Given the description of an element on the screen output the (x, y) to click on. 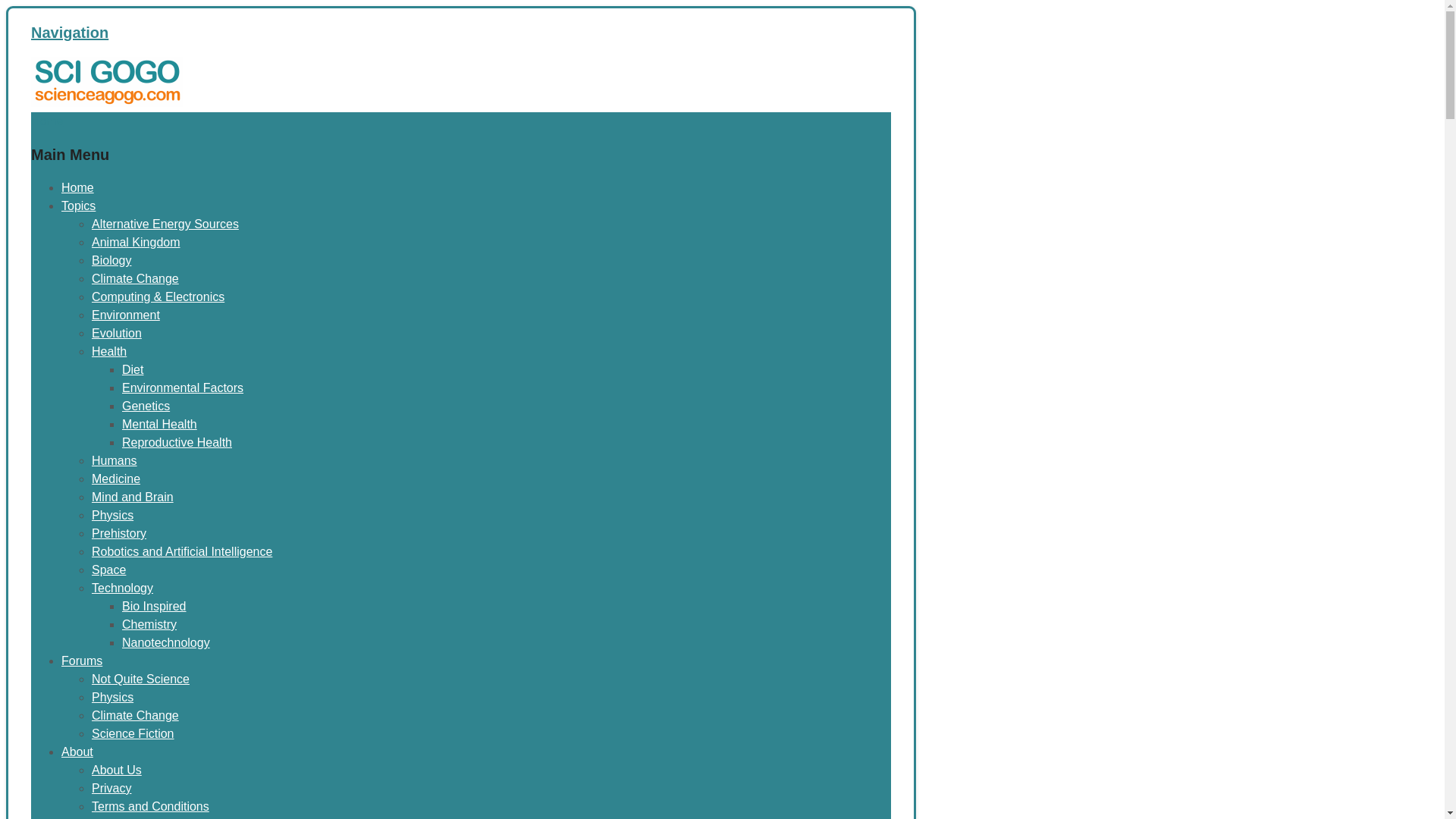
About (77, 751)
Genetics (146, 405)
Robotics and Artificial Intelligence (181, 551)
Biology (111, 259)
Chemistry (149, 624)
Science Fiction (132, 733)
About Us (116, 769)
Home (77, 187)
Mental Health (159, 423)
Interesting Science News and Discussion (106, 102)
